Given the description of an element on the screen output the (x, y) to click on. 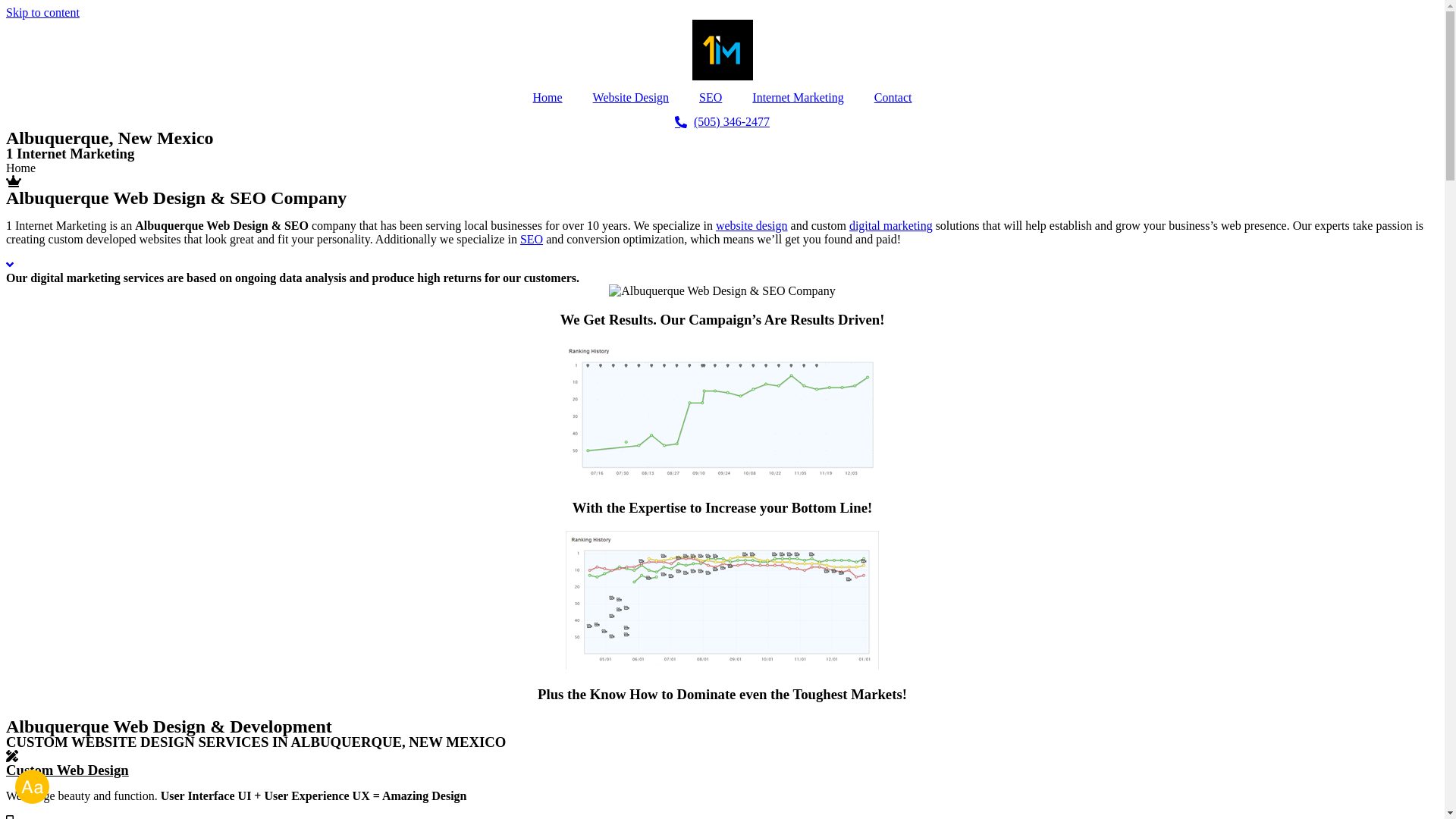
Contact Element type: text (893, 97)
Skip to content Element type: text (42, 12)
Internet Marketing Element type: text (797, 97)
SEO Element type: text (531, 238)
website design Element type: text (751, 225)
Website Design Element type: text (630, 97)
Home Element type: text (547, 97)
SEO Element type: text (710, 97)
(505) 346-2477 Element type: text (722, 121)
digital marketing Element type: text (890, 225)
Custom Web Design Element type: text (67, 770)
